Given the description of an element on the screen output the (x, y) to click on. 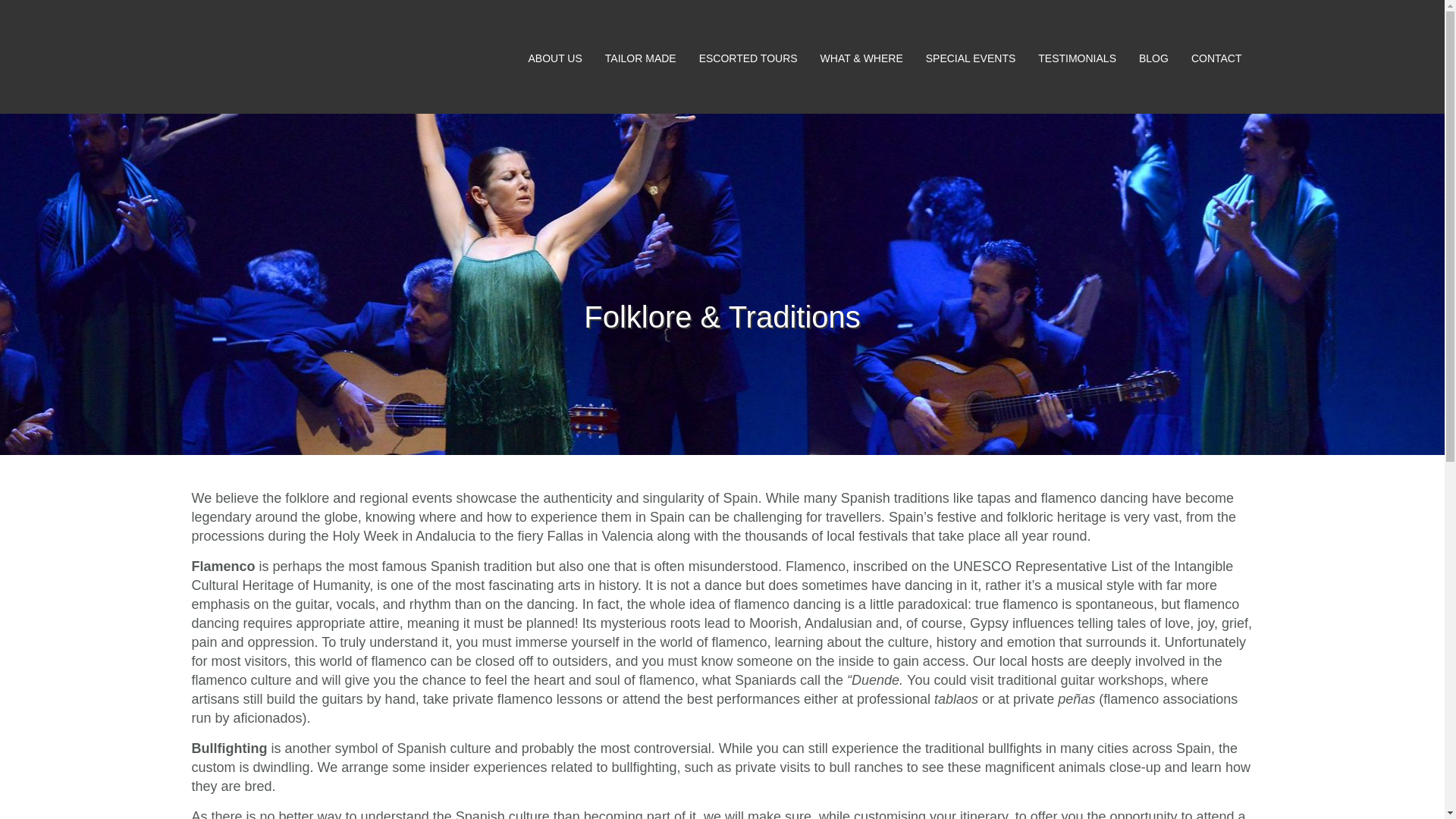
ESCORTED TOURS (748, 58)
SPECIAL EVENTS (970, 58)
TESTIMONIALS (1076, 58)
ABOUT US (554, 58)
TAILOR MADE (640, 58)
CONTACT (1216, 58)
BLOG (1152, 58)
